Given the description of an element on the screen output the (x, y) to click on. 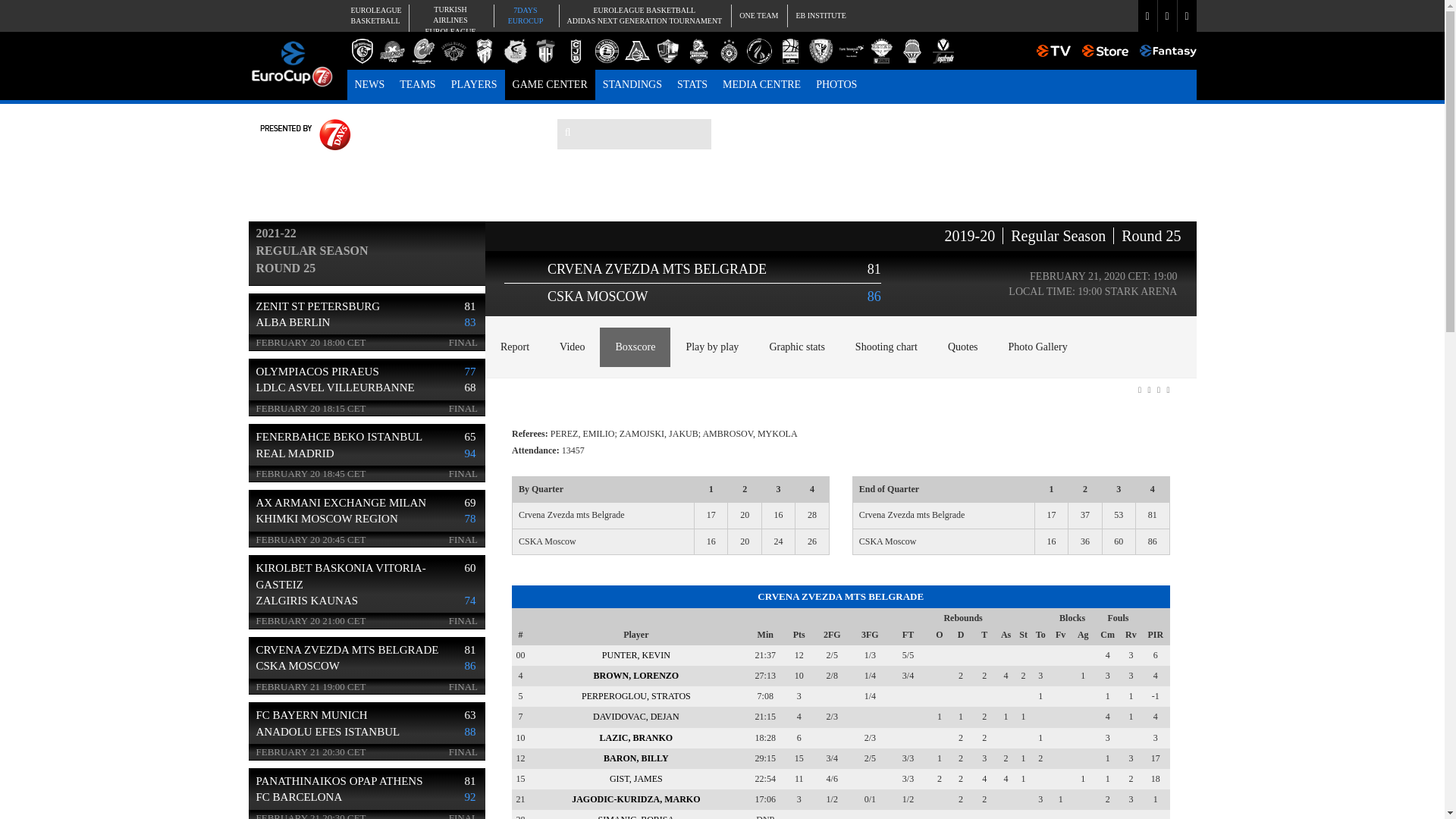
Lietkabelis Panevezys (606, 50)
Dolomiti Energia Trento (453, 50)
Buducnost VOLI Podgorica (392, 50)
7DAYS EUROCUP (524, 15)
EUROLEAGUE BASKETBALL (374, 15)
NEWS (643, 15)
Cedevita Olimpija Ljubljana (370, 84)
TEAMS (422, 50)
Joventut Badalona (416, 84)
7DAYS EuroCup (575, 50)
7DAYS EuroCup (292, 60)
Boulogne Metropolitans 92 (524, 15)
EB INSTITUTE (362, 50)
Euroleague Basketball Adidas Next Generation Tournament (820, 15)
